Given the description of an element on the screen output the (x, y) to click on. 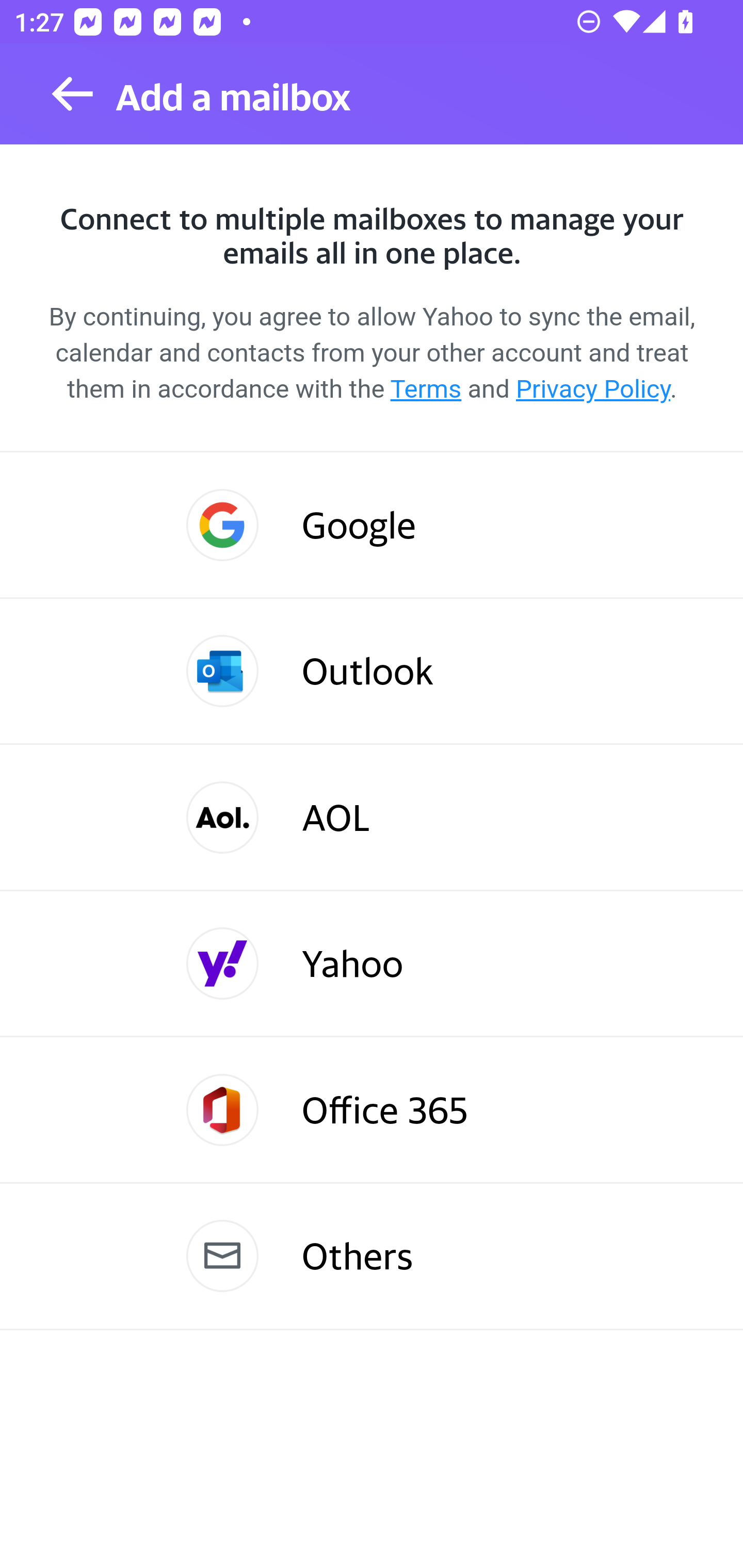
Back (71, 93)
Terms (426, 388)
Privacy Policy (592, 388)
